Given the description of an element on the screen output the (x, y) to click on. 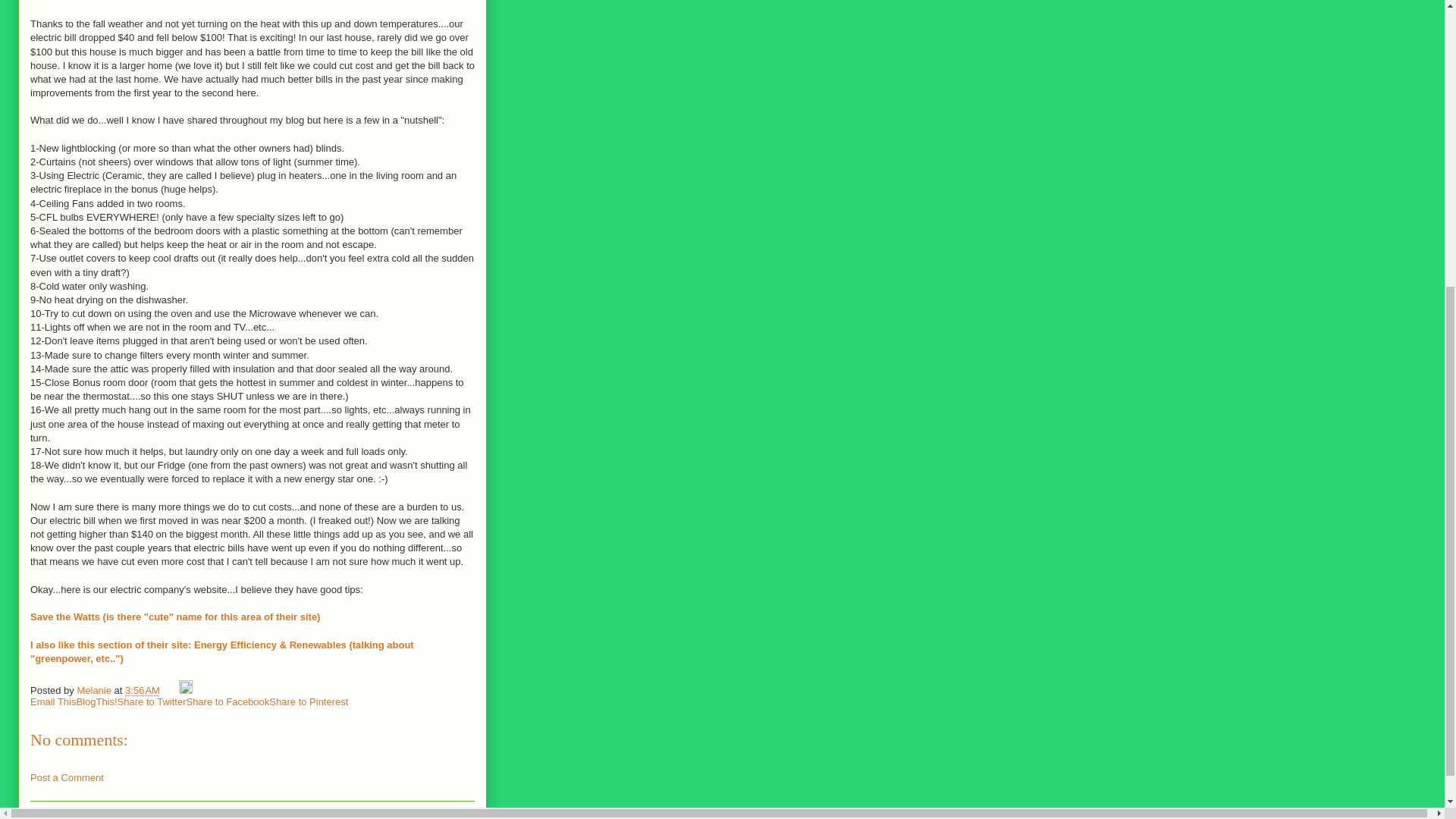
Email This (52, 701)
Share to Twitter (151, 701)
BlogThis! (95, 701)
Share to Twitter (151, 701)
Email This (52, 701)
Share to Facebook (227, 701)
BlogThis! (95, 701)
Email Post (171, 690)
permanent link (142, 690)
